Given the description of an element on the screen output the (x, y) to click on. 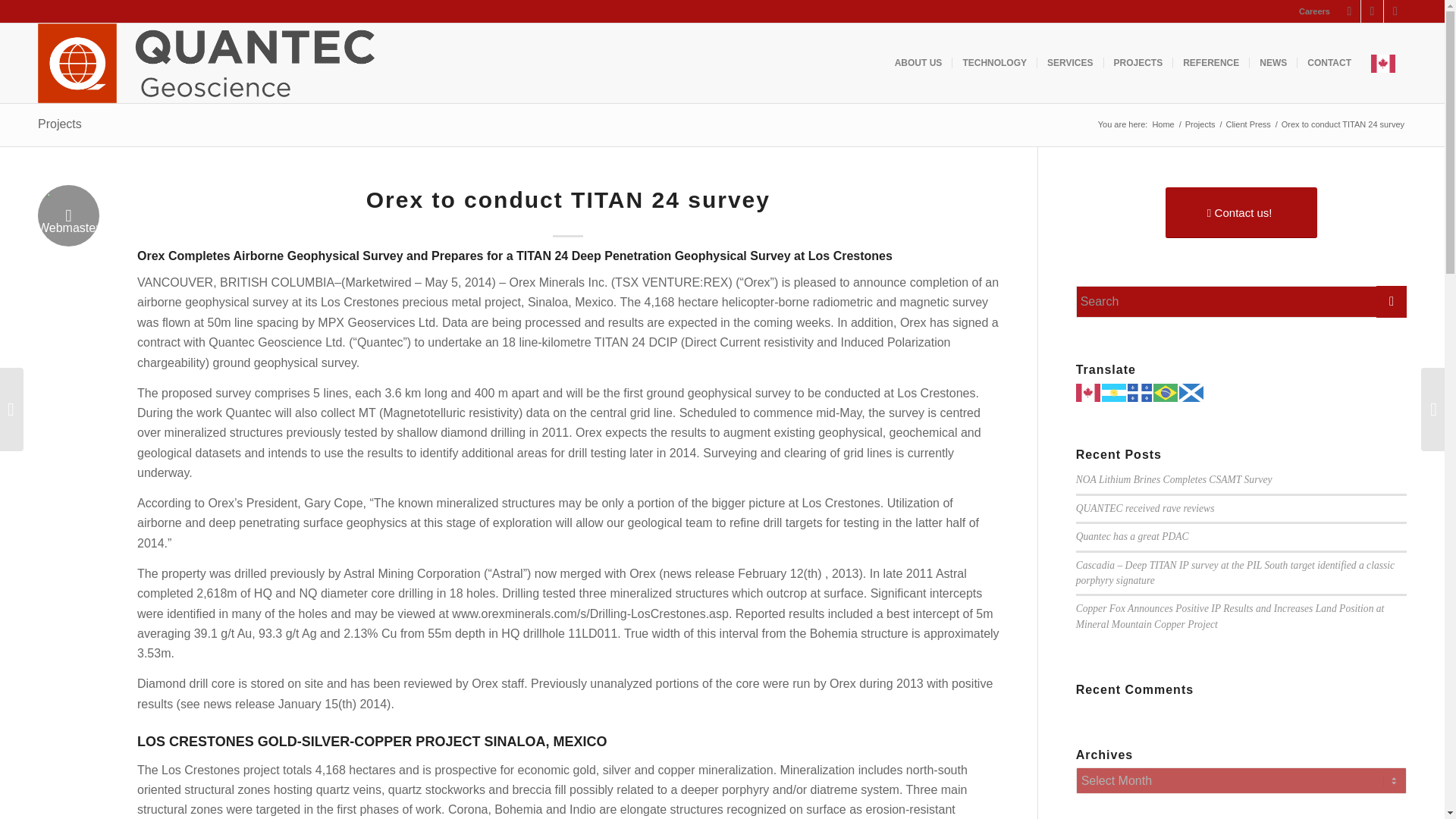
CONTACT (1329, 63)
NEWS (1273, 63)
PROJECTS (1138, 63)
Instagram (1348, 11)
English (1383, 63)
Quantec Geoscience (1163, 124)
ABOUT US (918, 63)
Careers (1314, 11)
Facebook (1372, 11)
Permanent Link: Orex to conduct TITAN 24 survey (568, 199)
SERVICES (1069, 63)
LinkedIn (1395, 11)
Projects (1199, 124)
REFERENCE (1210, 63)
Permanent Link: Projects (59, 123)
